Given the description of an element on the screen output the (x, y) to click on. 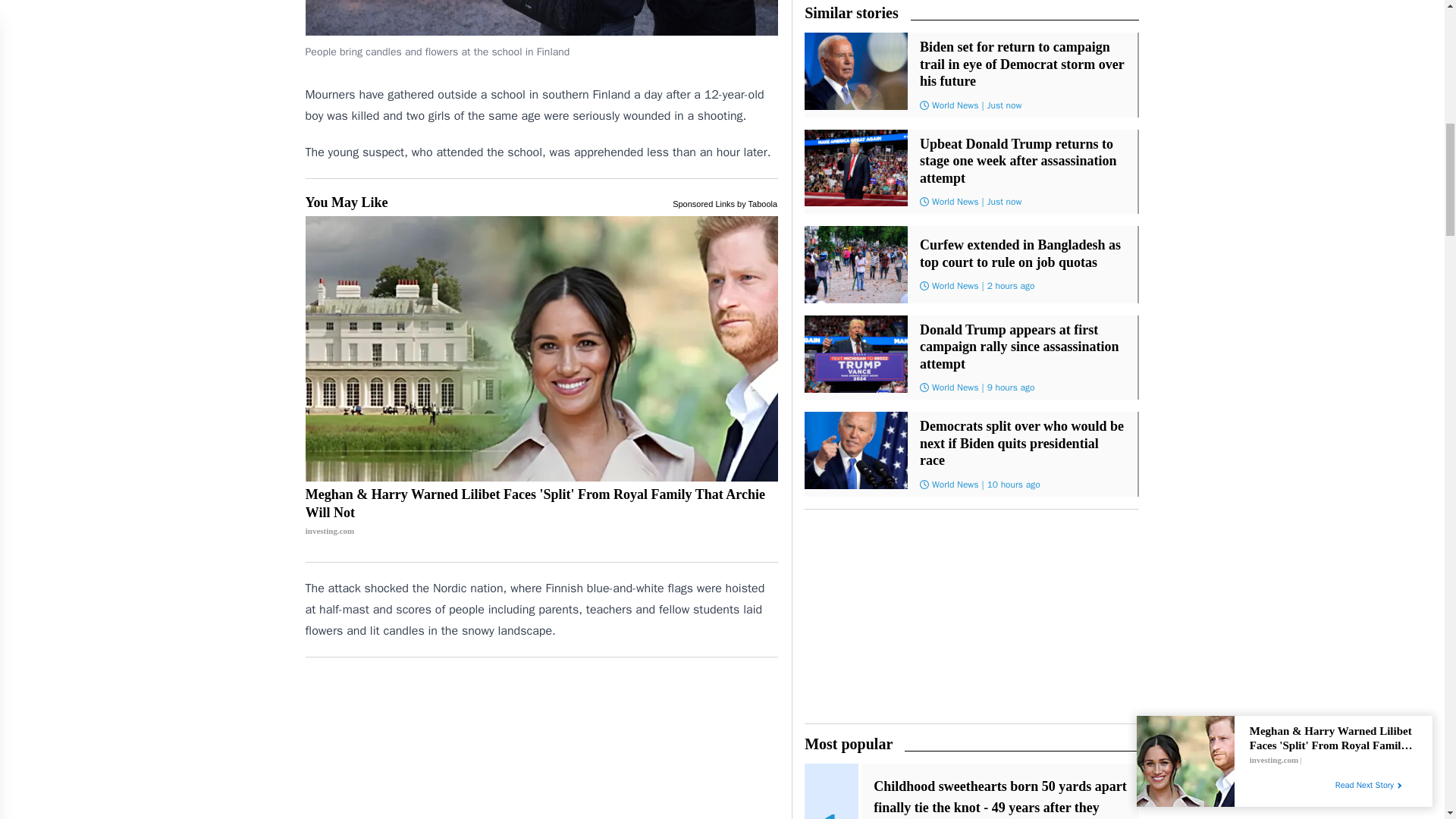
3rd party ad content (541, 744)
